Given the description of an element on the screen output the (x, y) to click on. 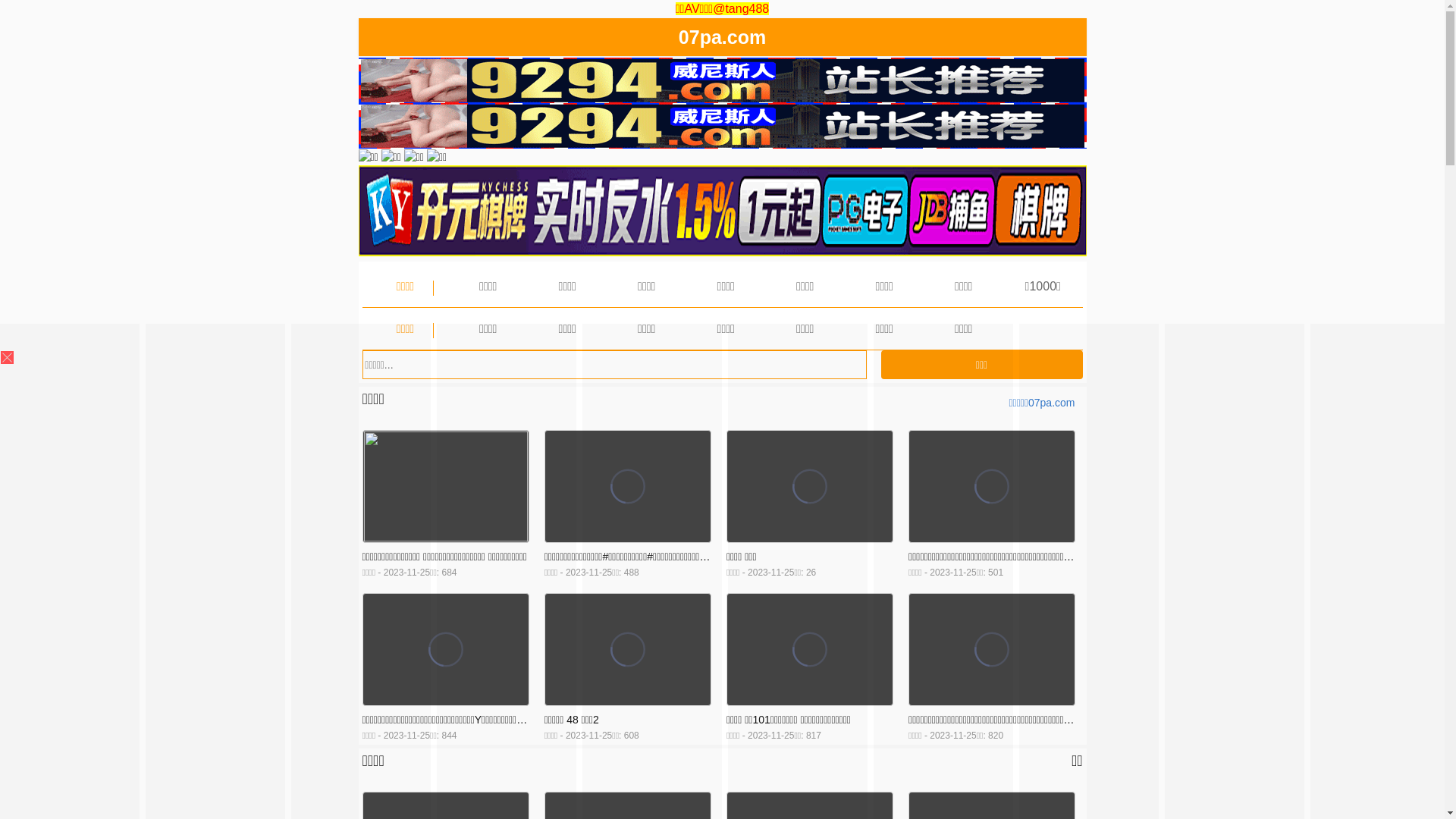
07pa.com Element type: text (721, 40)
